Given the description of an element on the screen output the (x, y) to click on. 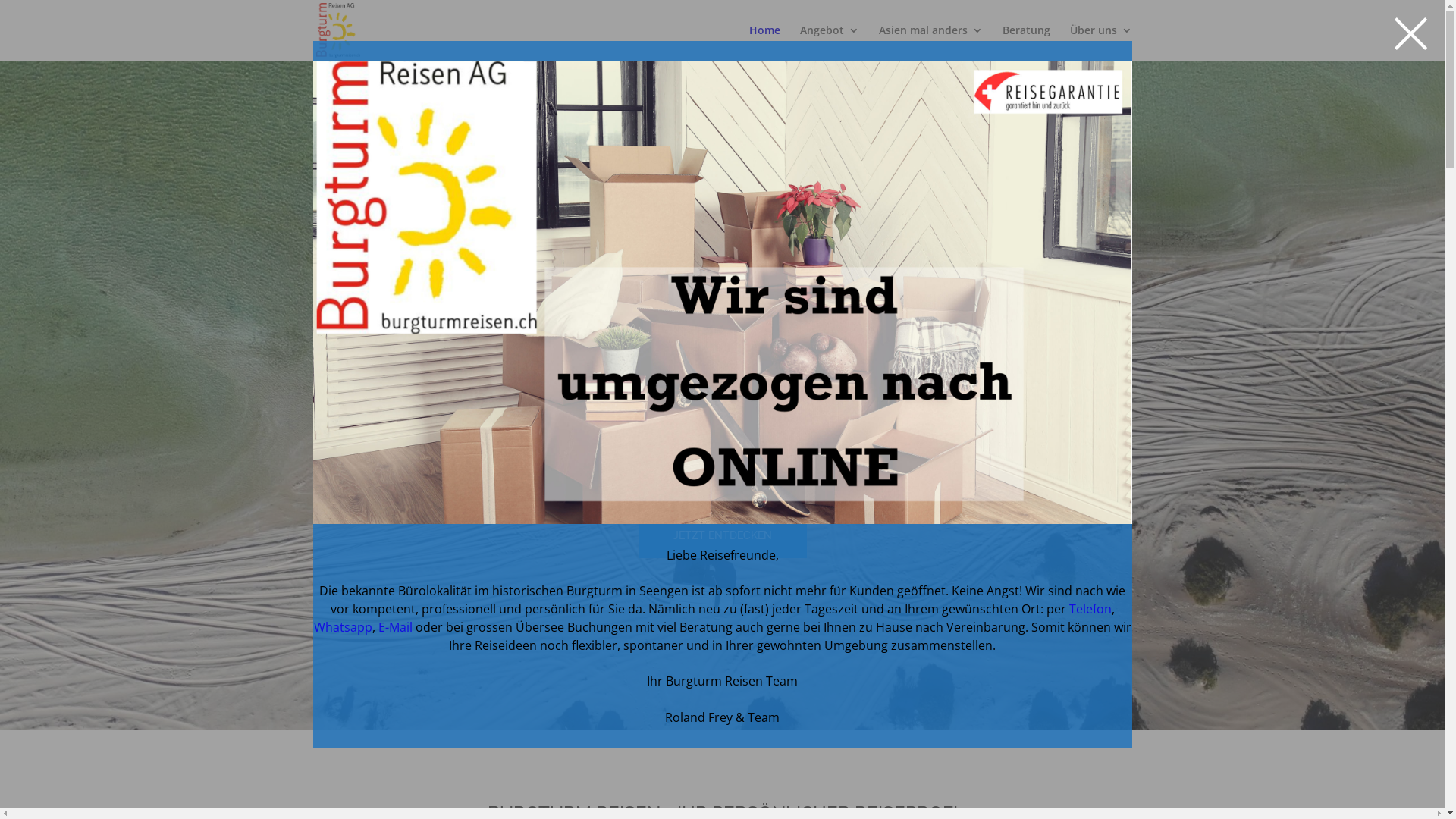
Home Element type: text (764, 42)
E-Mail Element type: text (394, 626)
Whatsapp Element type: text (342, 626)
Telefon Element type: text (1090, 608)
Asien mal anders Element type: text (930, 42)
JETZT ENTDECKEN Element type: text (722, 535)
Beratung Element type: text (1026, 42)
Angebot Element type: text (828, 42)
